Given the description of an element on the screen output the (x, y) to click on. 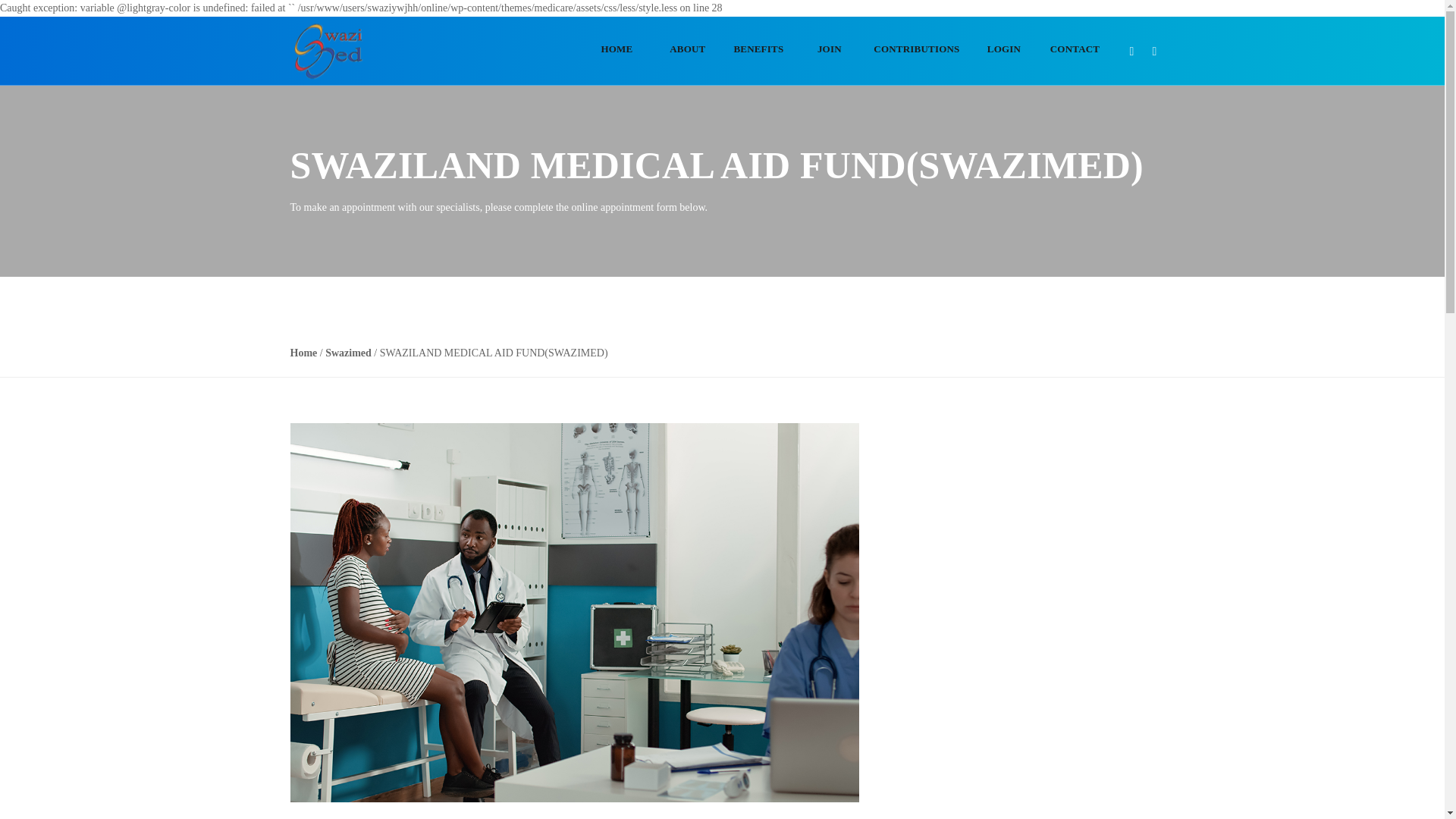
ABOUT (687, 50)
LOGIN (1003, 50)
HOME (616, 50)
CONTACT (1074, 50)
BENEFITS (757, 50)
CONTRIBUTIONS (916, 50)
JOIN (828, 50)
Home (303, 352)
Swazimed (347, 352)
